Given the description of an element on the screen output the (x, y) to click on. 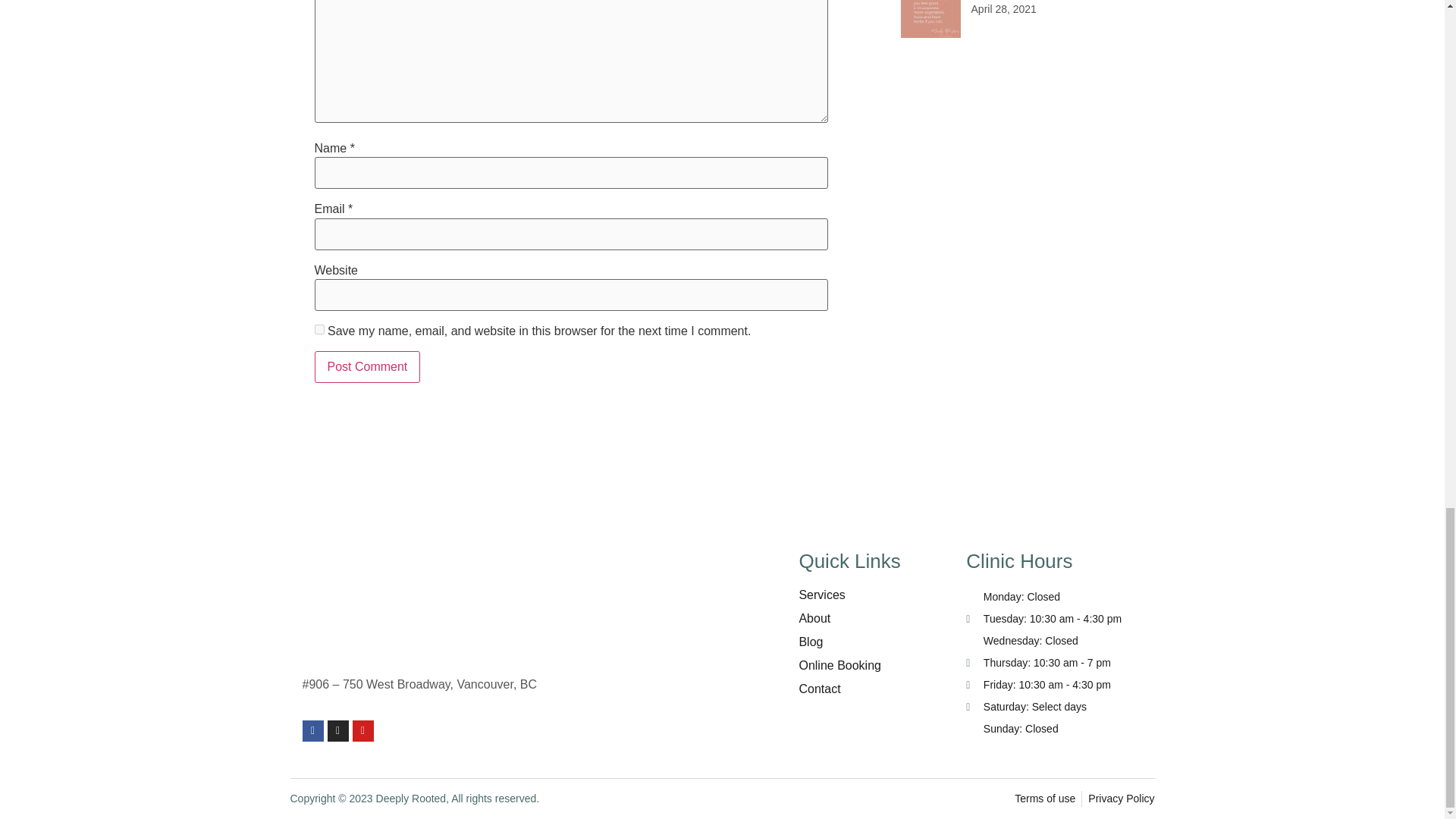
About (869, 618)
Blog (869, 642)
Services (869, 595)
yes (318, 329)
Post Comment (367, 367)
Post Comment (367, 367)
